Given the description of an element on the screen output the (x, y) to click on. 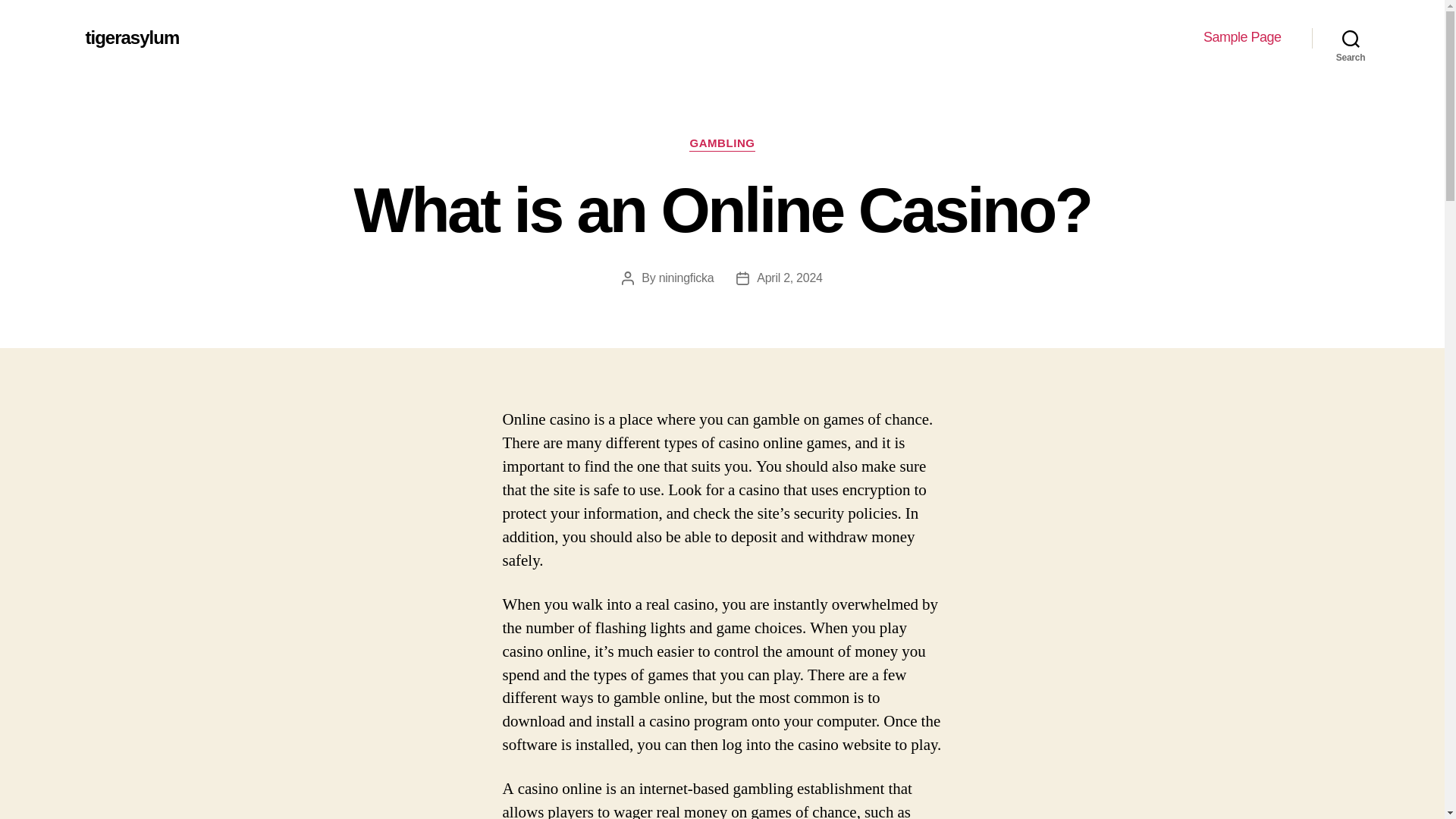
niningficka (686, 277)
April 2, 2024 (789, 277)
Search (1350, 37)
tigerasylum (131, 37)
Sample Page (1242, 37)
GAMBLING (721, 143)
